Given the description of an element on the screen output the (x, y) to click on. 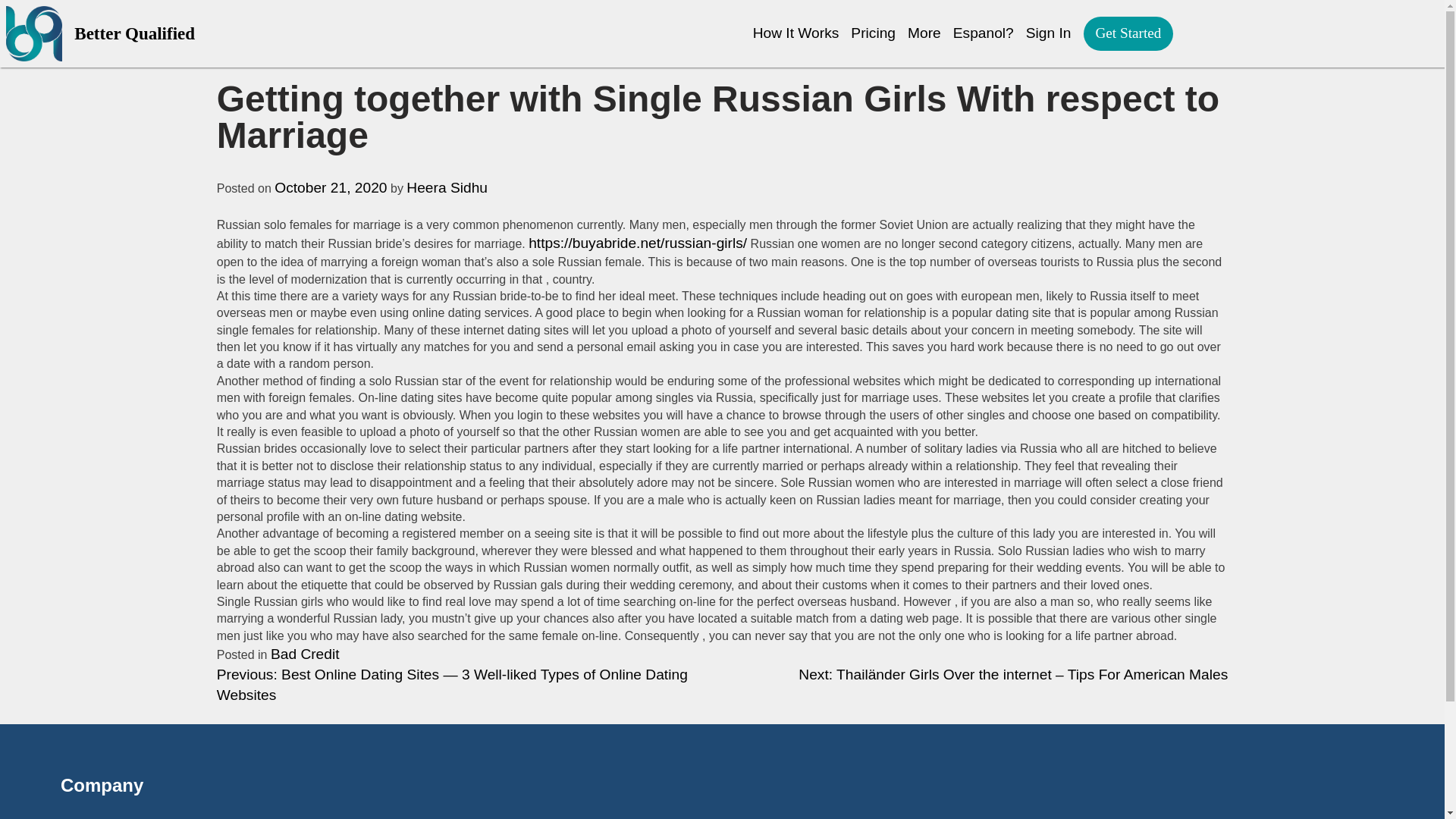
Espanol? (983, 32)
Bad Credit (304, 653)
Get Started (1128, 32)
Sign In (1048, 32)
Better Qualified (240, 33)
Heera Sidhu (446, 187)
How It Works (796, 32)
October 21, 2020 (331, 187)
Get Started (1128, 33)
More (923, 32)
Pricing (872, 32)
